Given the description of an element on the screen output the (x, y) to click on. 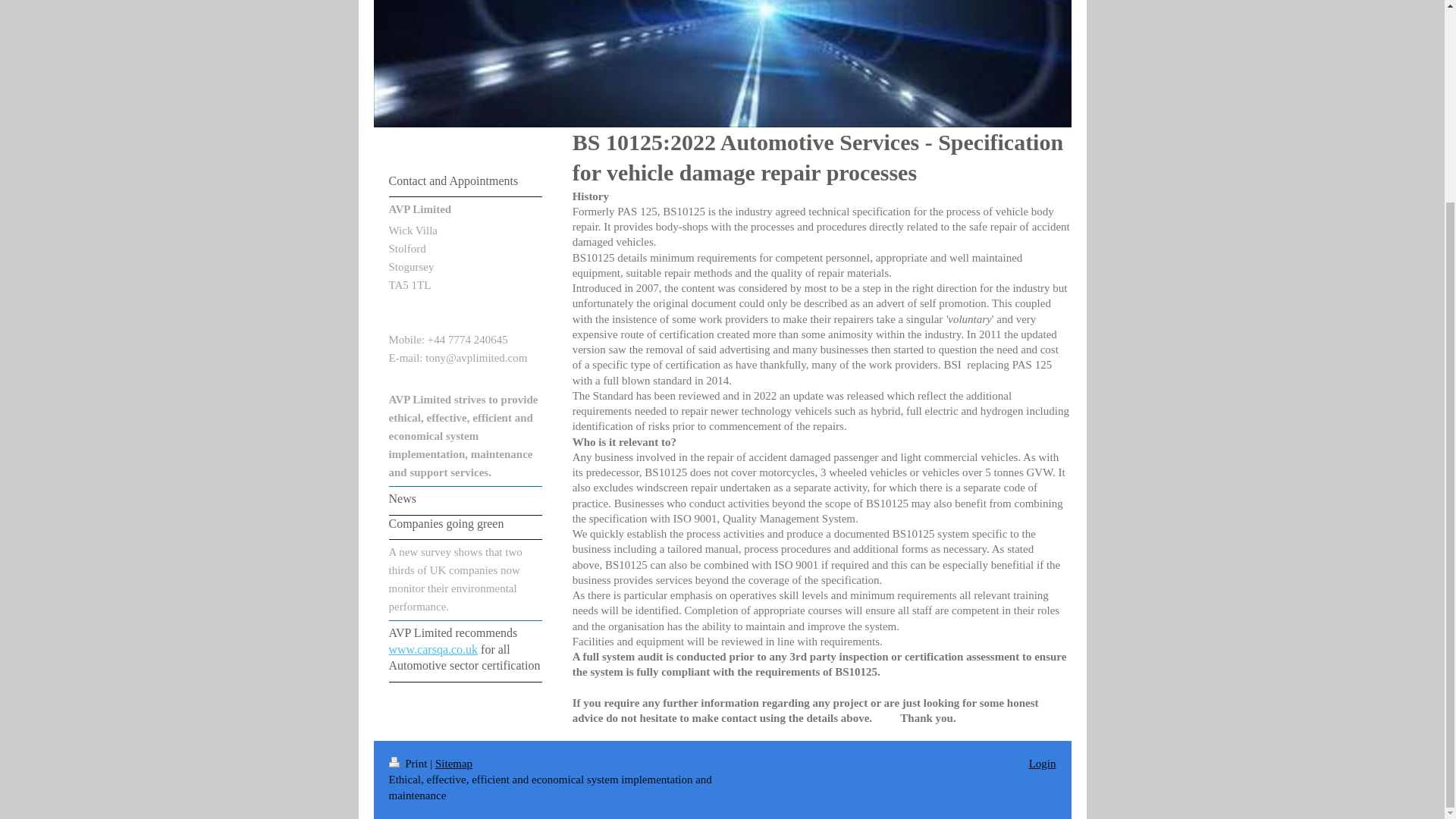
Print (408, 763)
Sitemap (453, 763)
www.carsqa.co.uk (432, 649)
Login (1043, 763)
